Given the description of an element on the screen output the (x, y) to click on. 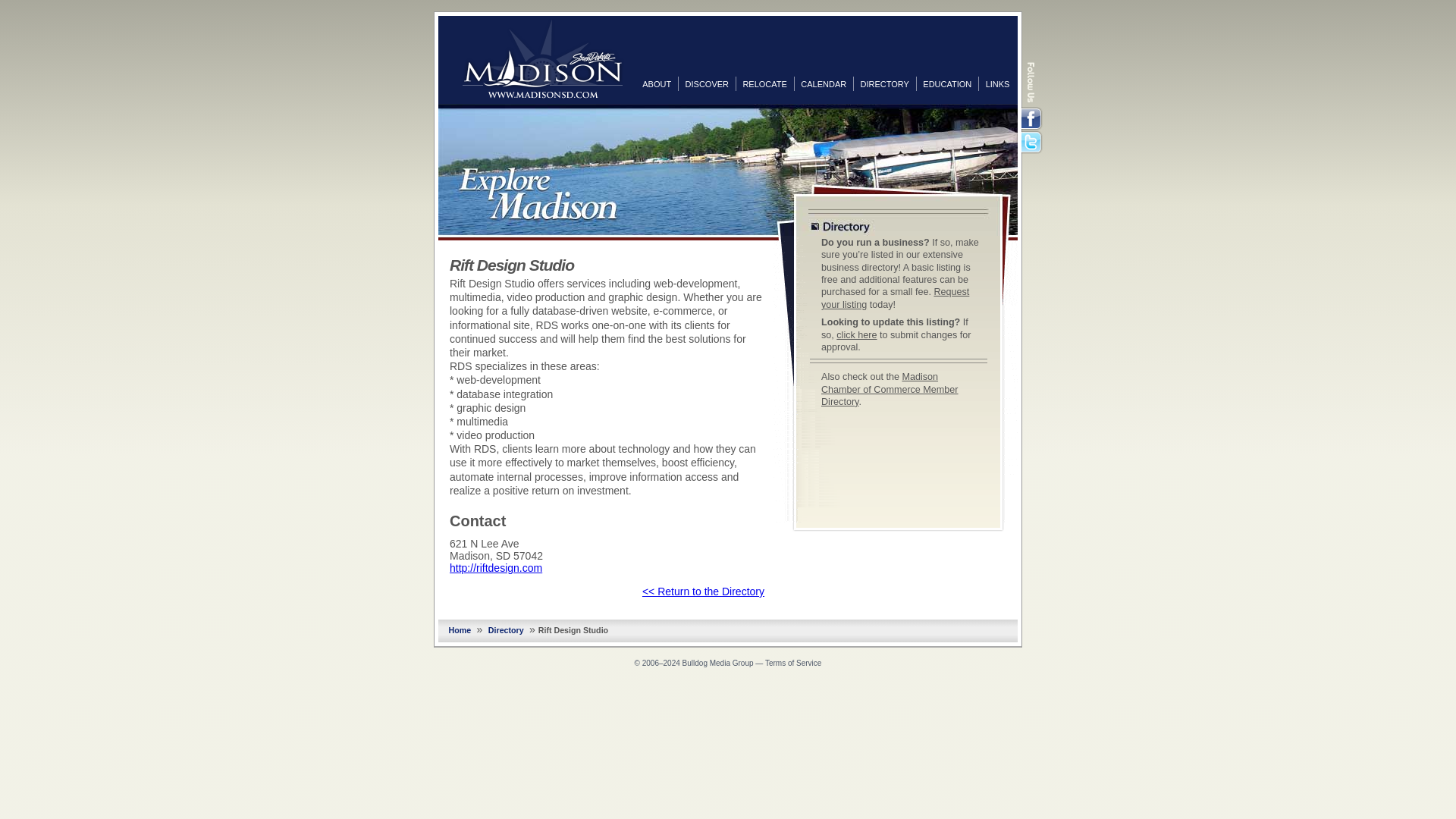
Terms of Service (793, 663)
Twitter (1032, 143)
Madison Chamber of Commerce Member Directory (889, 389)
About Madison, South Dakota (657, 83)
Calendar of Events (823, 83)
Madison, South Dakota (542, 58)
Rift Design Studio (495, 567)
Education in Madison, South Dakota (946, 83)
ABOUT (657, 83)
Bulldog Media Group (718, 663)
